Given the description of an element on the screen output the (x, y) to click on. 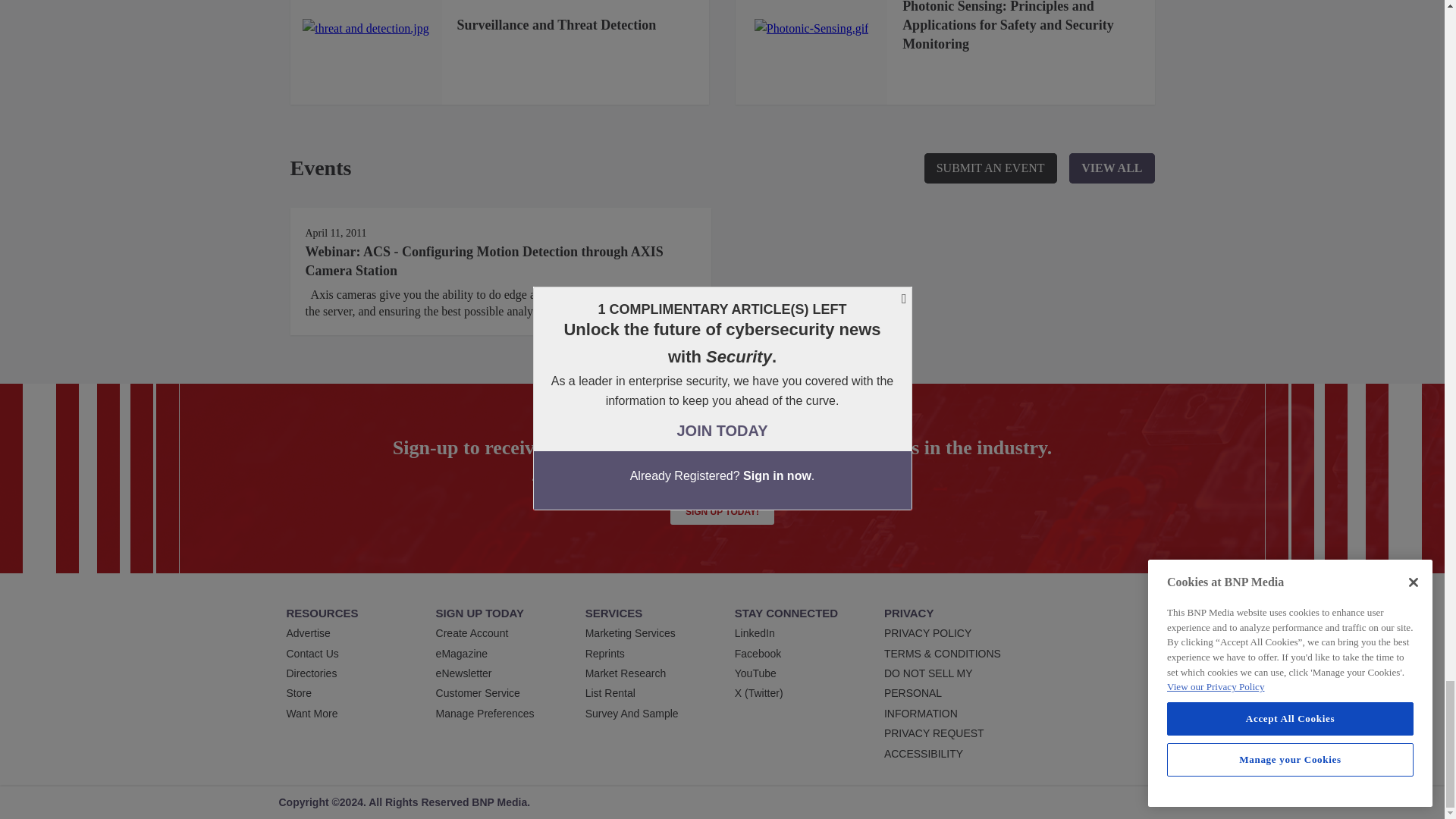
threat and detection.jpg (365, 28)
Photonic-Sensing.gif (811, 28)
